Given the description of an element on the screen output the (x, y) to click on. 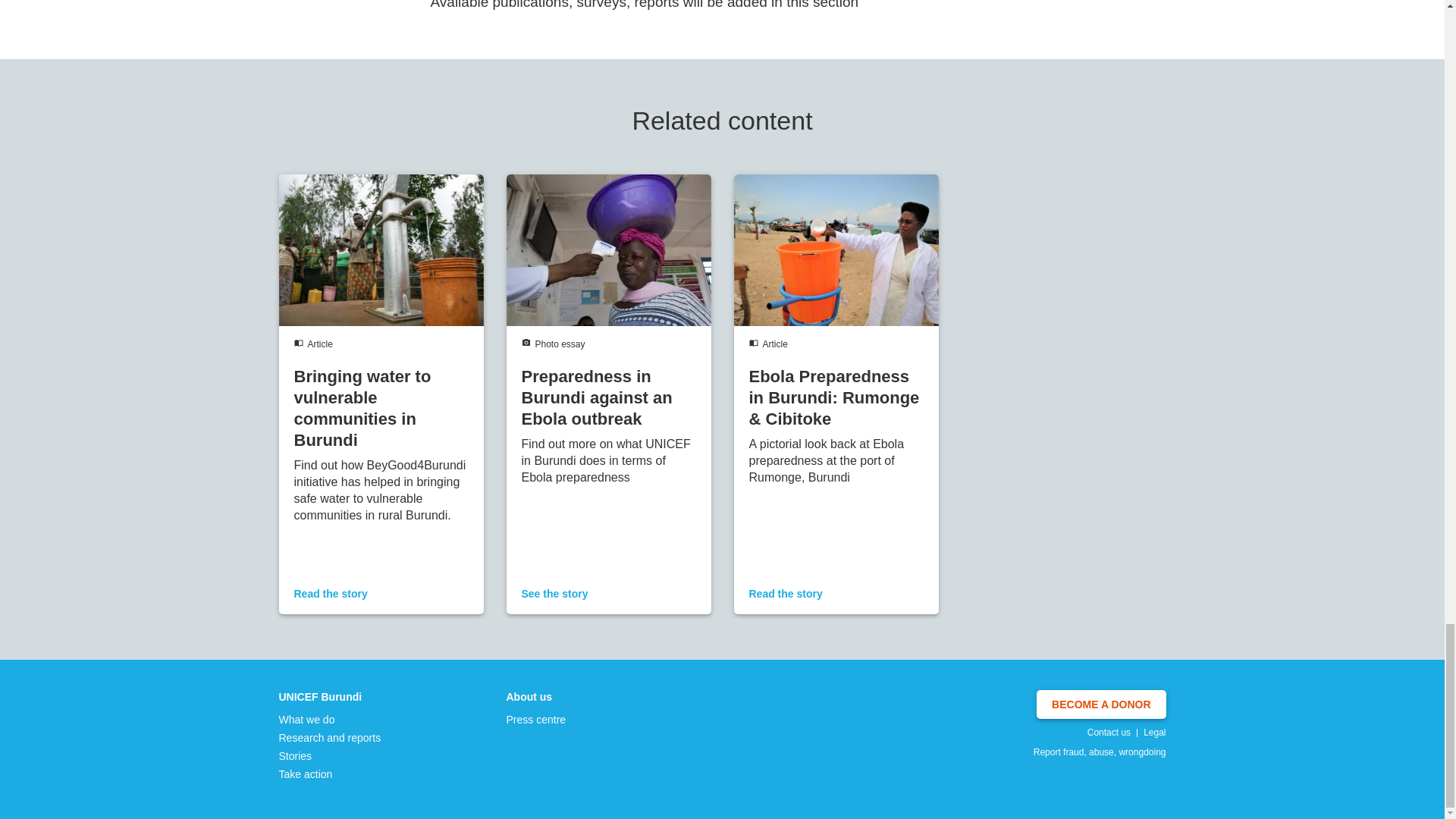
Press centre (536, 719)
UNICEF Burundi (330, 696)
Research and reports (330, 737)
What we do (330, 719)
Take action (330, 774)
Press centre (536, 719)
Stories (330, 755)
Contact us (1109, 732)
BECOME A DONOR (1101, 704)
Report fraud, abuse, wrongdoing (1099, 751)
About us (536, 696)
Take action (330, 774)
Legal (1154, 732)
Research and reports (330, 737)
Stories (330, 755)
